Given the description of an element on the screen output the (x, y) to click on. 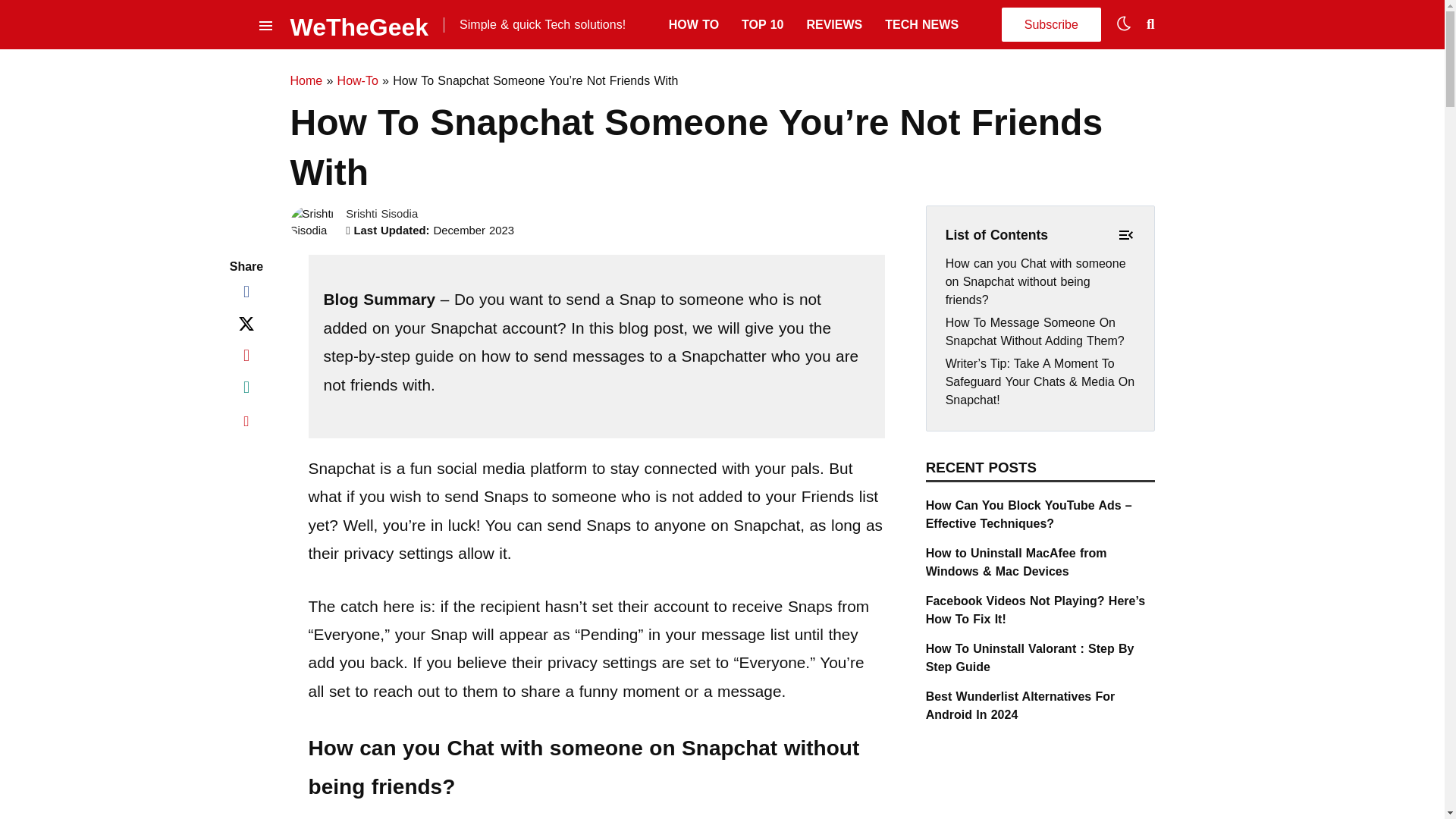
Srishti Sisodia (381, 214)
TECH NEWS (921, 24)
WeTheGeek (358, 24)
How-To (357, 80)
HOW TO (693, 24)
TOP 10 (762, 24)
REVIEWS (833, 24)
Home (305, 80)
